Given the description of an element on the screen output the (x, y) to click on. 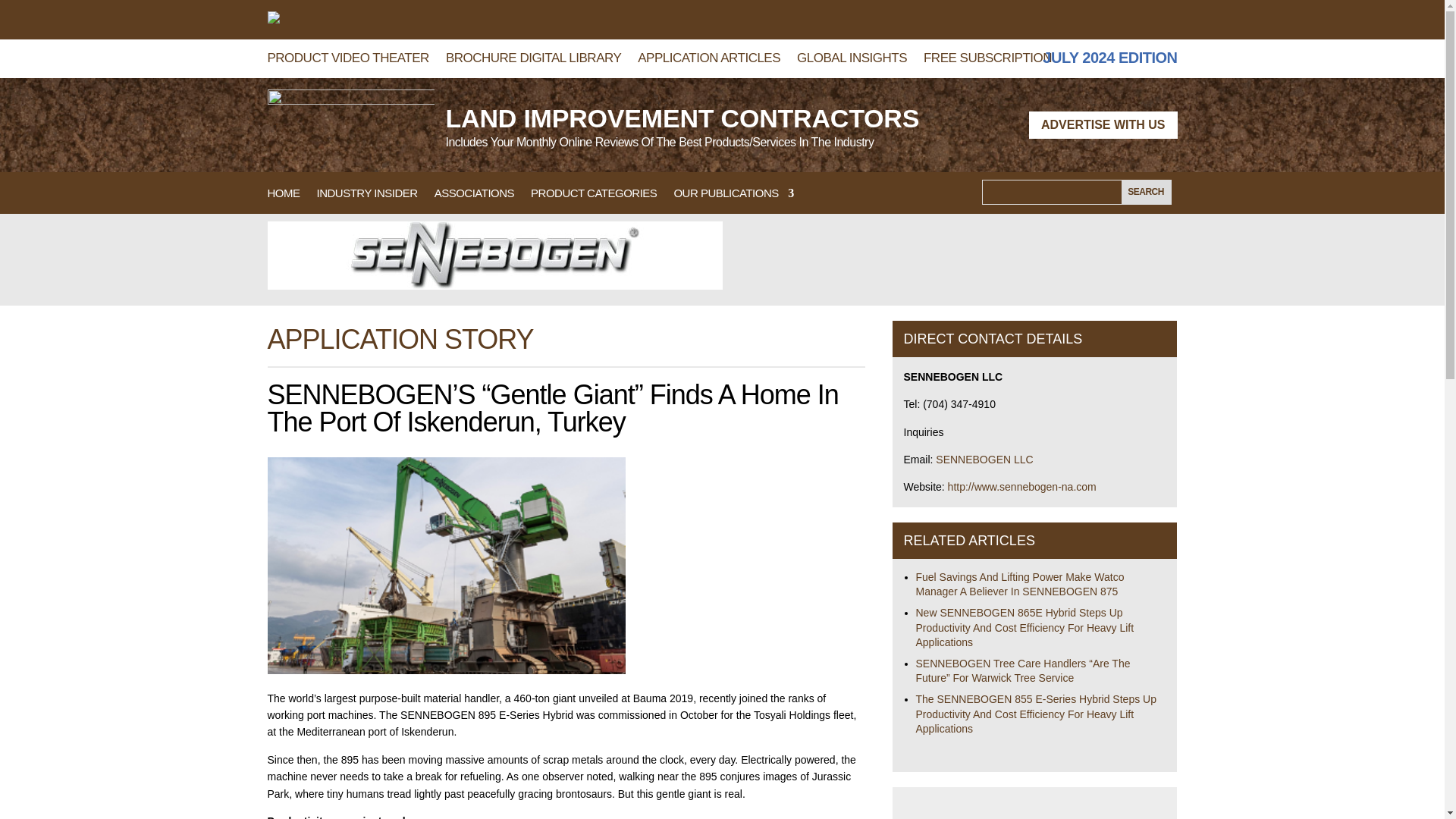
Search (1145, 191)
APPLICATION ARTICLES (708, 61)
PRODUCT VIDEO THEATER (347, 61)
FREE SUBSCRIPTION (987, 61)
INDUSTRY INSIDER (367, 196)
Search (1145, 191)
OUR PUBLICATIONS (732, 196)
GLOBAL INSIGHTS (851, 61)
Search (1145, 191)
BROCHURE DIGITAL LIBRARY (533, 61)
HOME (282, 196)
SENNEBOGEN LLC (984, 459)
